Given the description of an element on the screen output the (x, y) to click on. 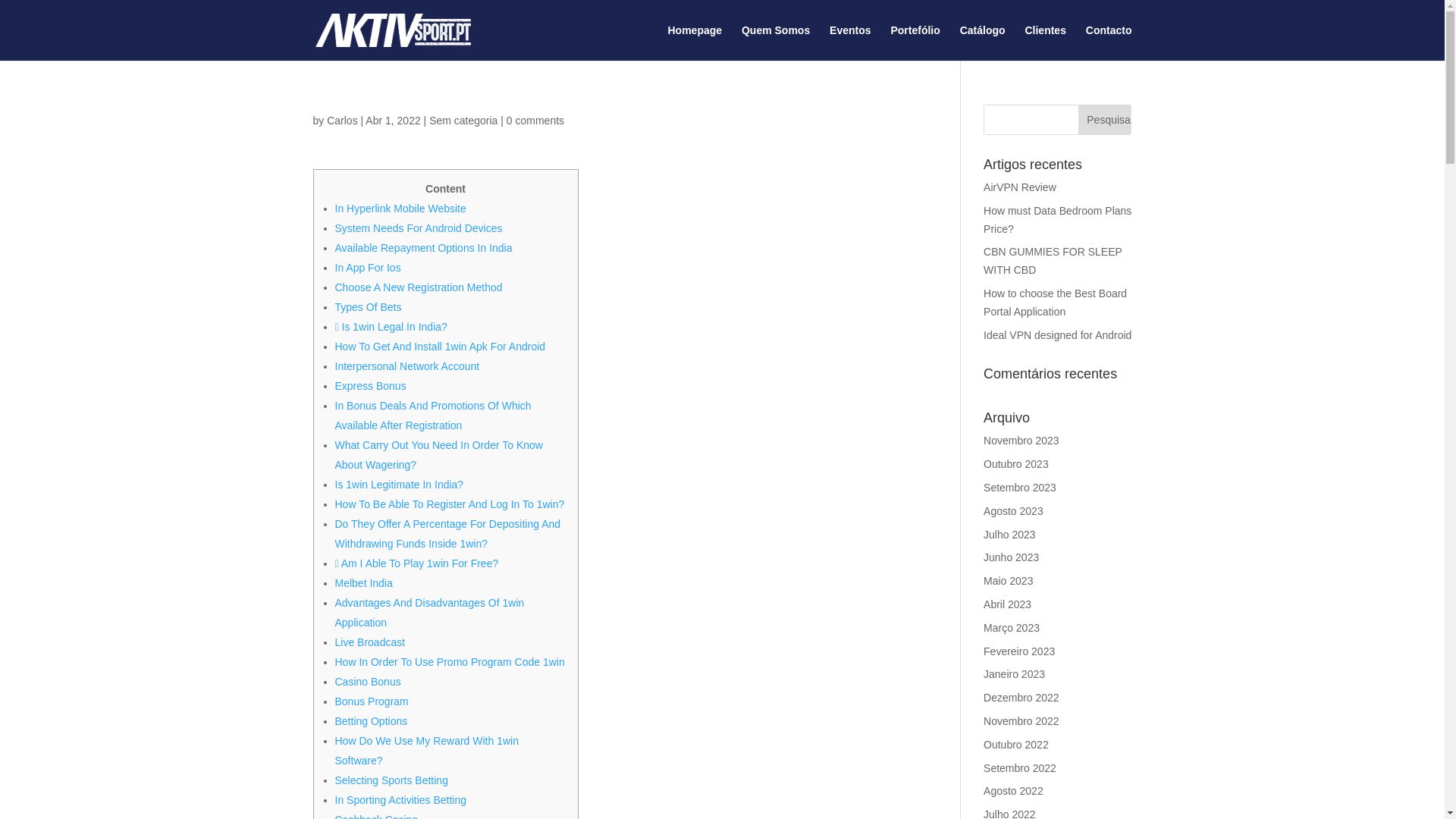
Quem Somos (775, 42)
How To Get And Install 1win Apk For Android (440, 346)
Homepage (694, 42)
Choose A New Registration Method (418, 287)
Contacto (1109, 42)
Advantages And Disadvantages Of 1win Application (429, 612)
Available Repayment Options In India (423, 247)
Live Broadcast (370, 642)
Bonus Program (371, 701)
Pesquisar (1104, 119)
Melbet India (363, 582)
How In Order To Use Promo Program Code 1win (449, 662)
In Hyperlink Mobile Website (399, 208)
Casino Bonus (367, 681)
